Given the description of an element on the screen output the (x, y) to click on. 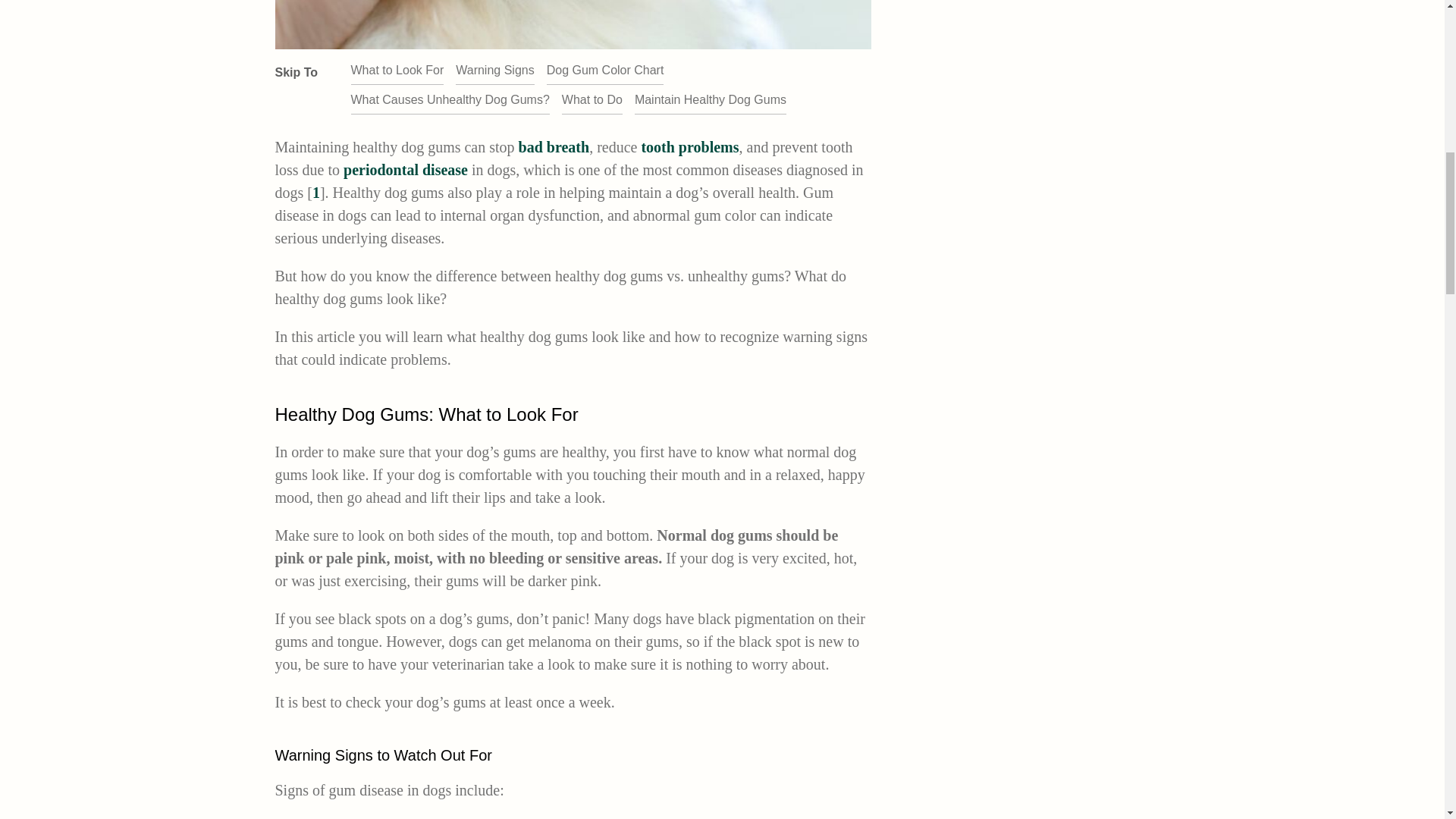
Maintain Healthy Dog Gums (710, 99)
bad breath (553, 146)
What to Do (592, 99)
Dog Gum Color Chart (605, 69)
What Causes Unhealthy Dog Gums? (449, 99)
Warning Signs (494, 69)
periodontal disease (405, 169)
What to Look For (397, 69)
tooth problems (689, 146)
